Given the description of an element on the screen output the (x, y) to click on. 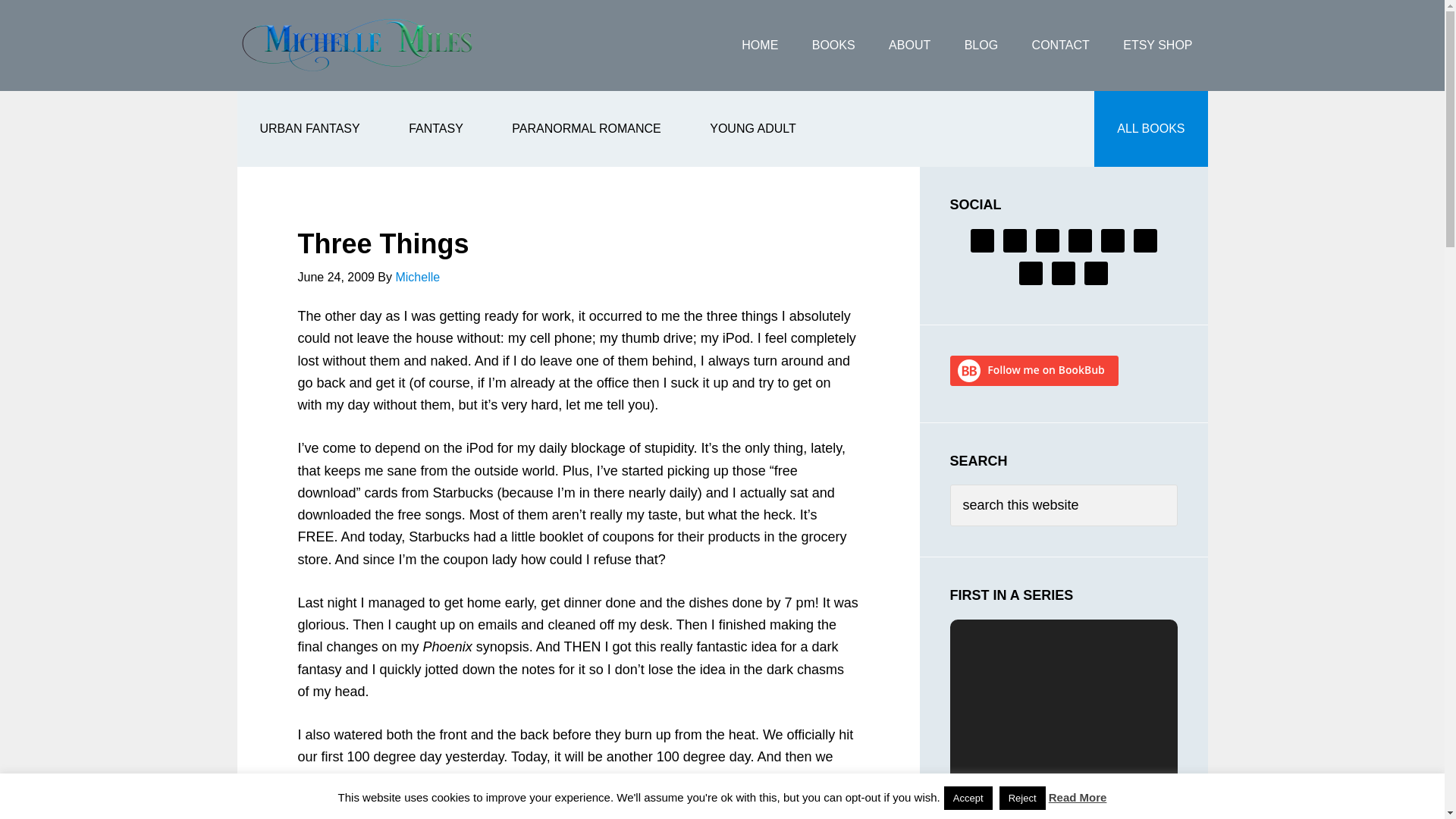
Michelle (416, 277)
FANTASY (435, 128)
URBAN FANTASY (308, 128)
CONTACT (1060, 45)
ETSY SHOP (1157, 45)
Michelle Miles Author (357, 45)
PARANORMAL ROMANCE (585, 128)
